Given the description of an element on the screen output the (x, y) to click on. 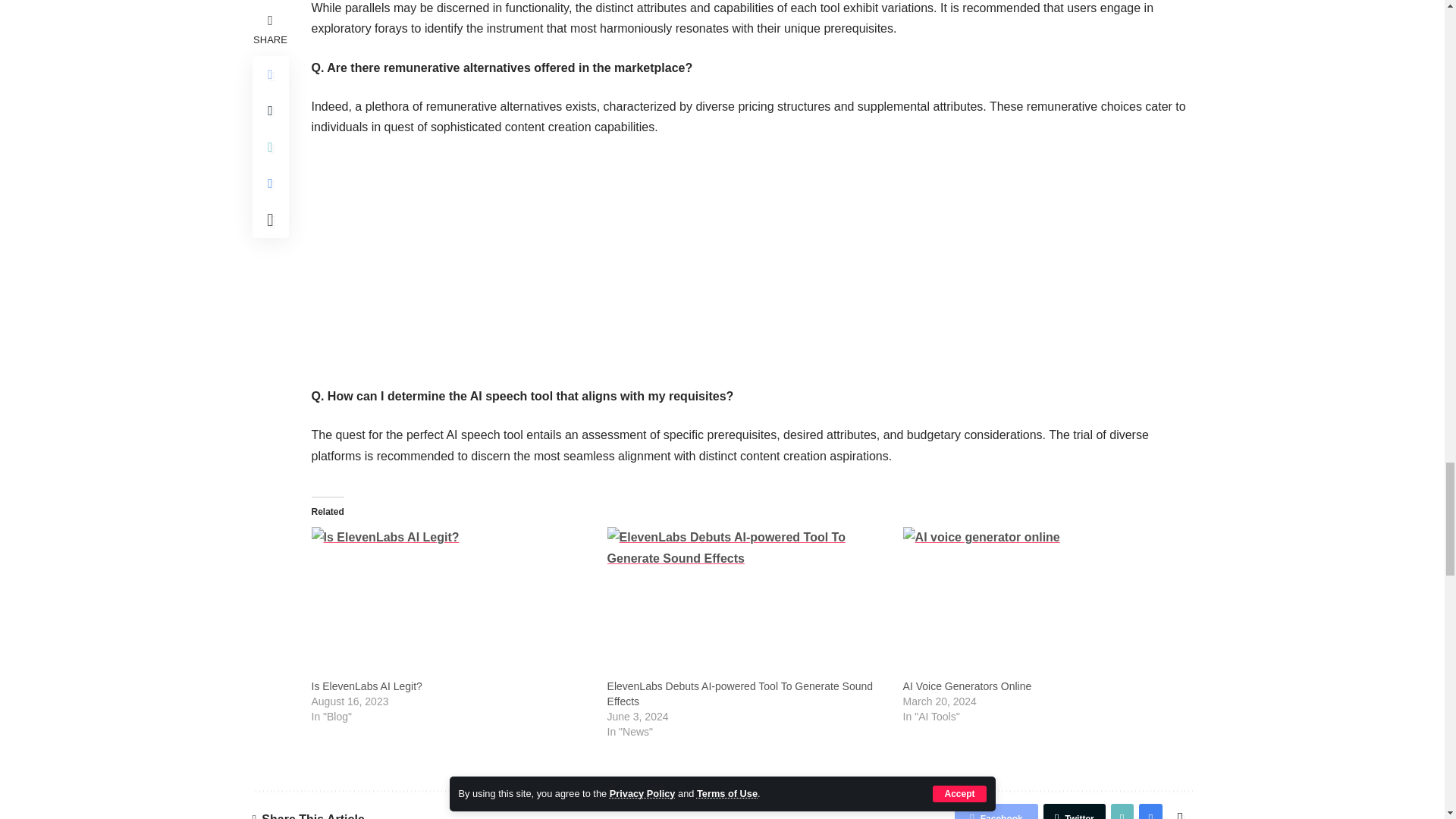
ElevenLabs Debuts AI-powered Tool To Generate Sound Effects (740, 693)
AI Voice Generators Online (1042, 602)
ElevenLabs Debuts AI-powered Tool To Generate Sound Effects (747, 602)
Is ElevenLabs AI Legit? (366, 686)
Is ElevenLabs AI Legit? (451, 602)
AI Voice Generators Online (967, 686)
